Given the description of an element on the screen output the (x, y) to click on. 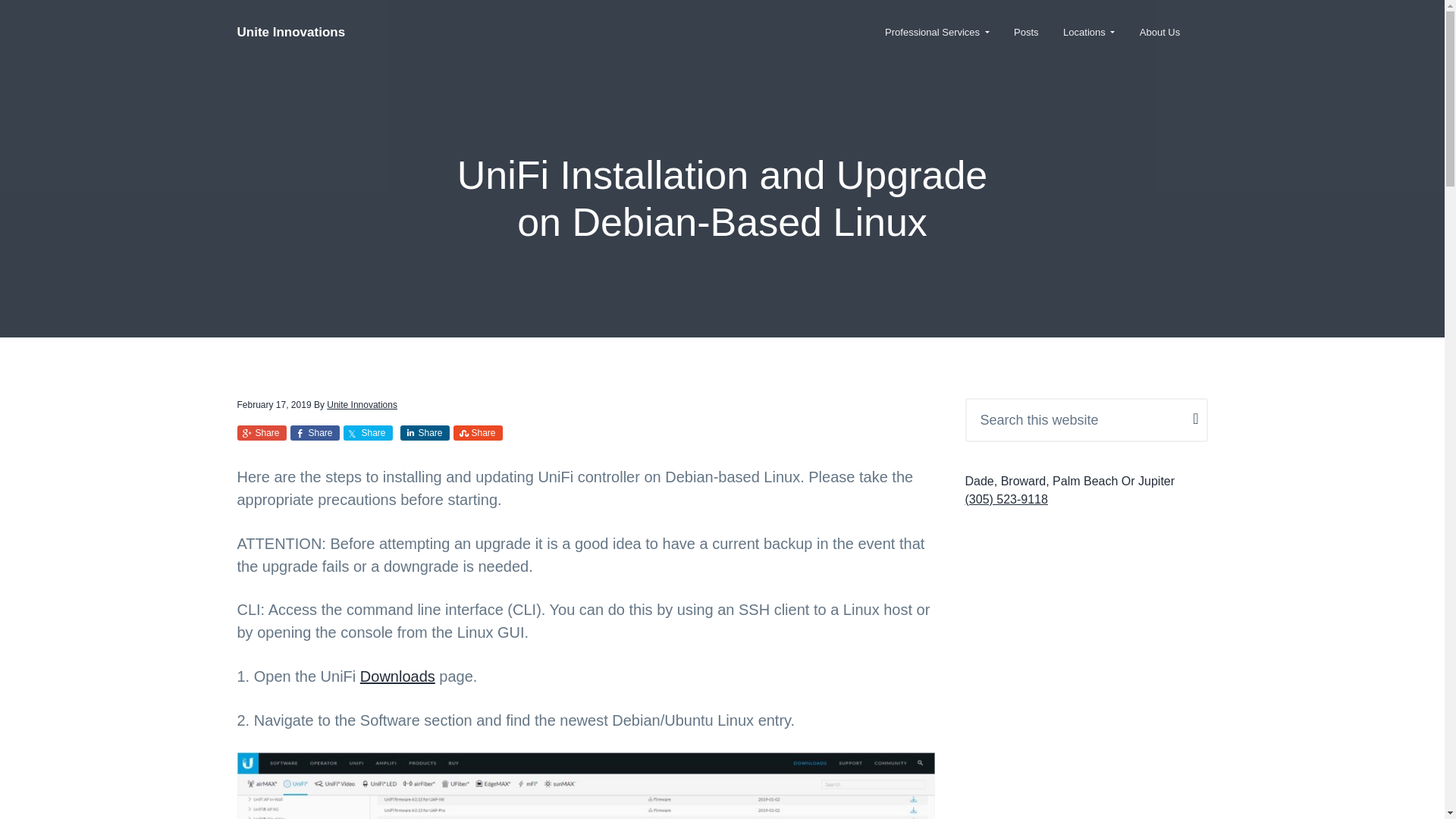
Unite Innovations (361, 404)
Professional Services (936, 31)
Share (366, 432)
Locations (1088, 31)
Posts (1026, 31)
Share (260, 432)
Share (477, 432)
Share (314, 432)
Unite Innovations (290, 32)
